Given the description of an element on the screen output the (x, y) to click on. 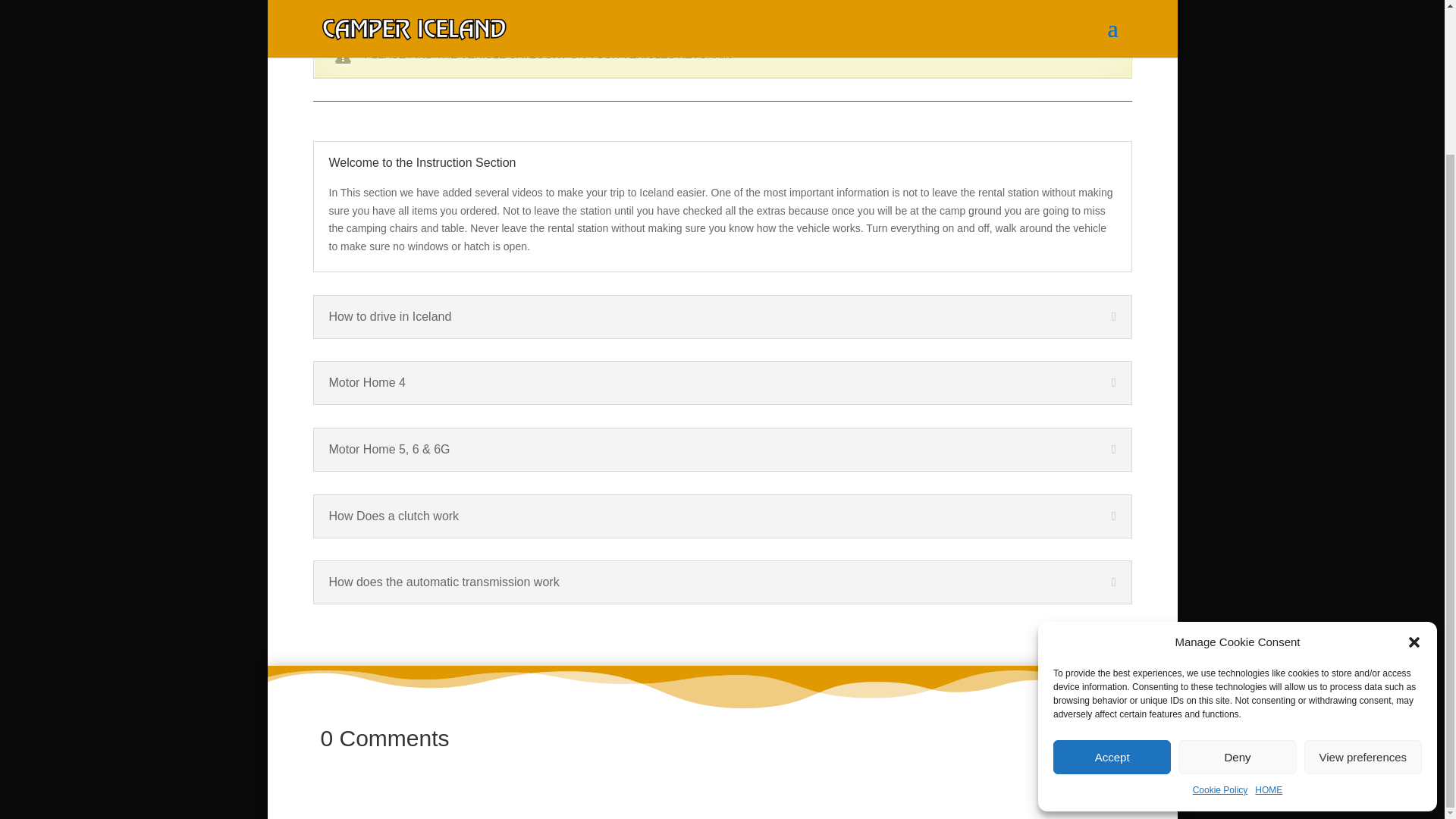
Cookie Policy (1219, 610)
HOME (1268, 610)
Accept (1111, 577)
View preferences (1363, 577)
Deny (1236, 577)
